Given the description of an element on the screen output the (x, y) to click on. 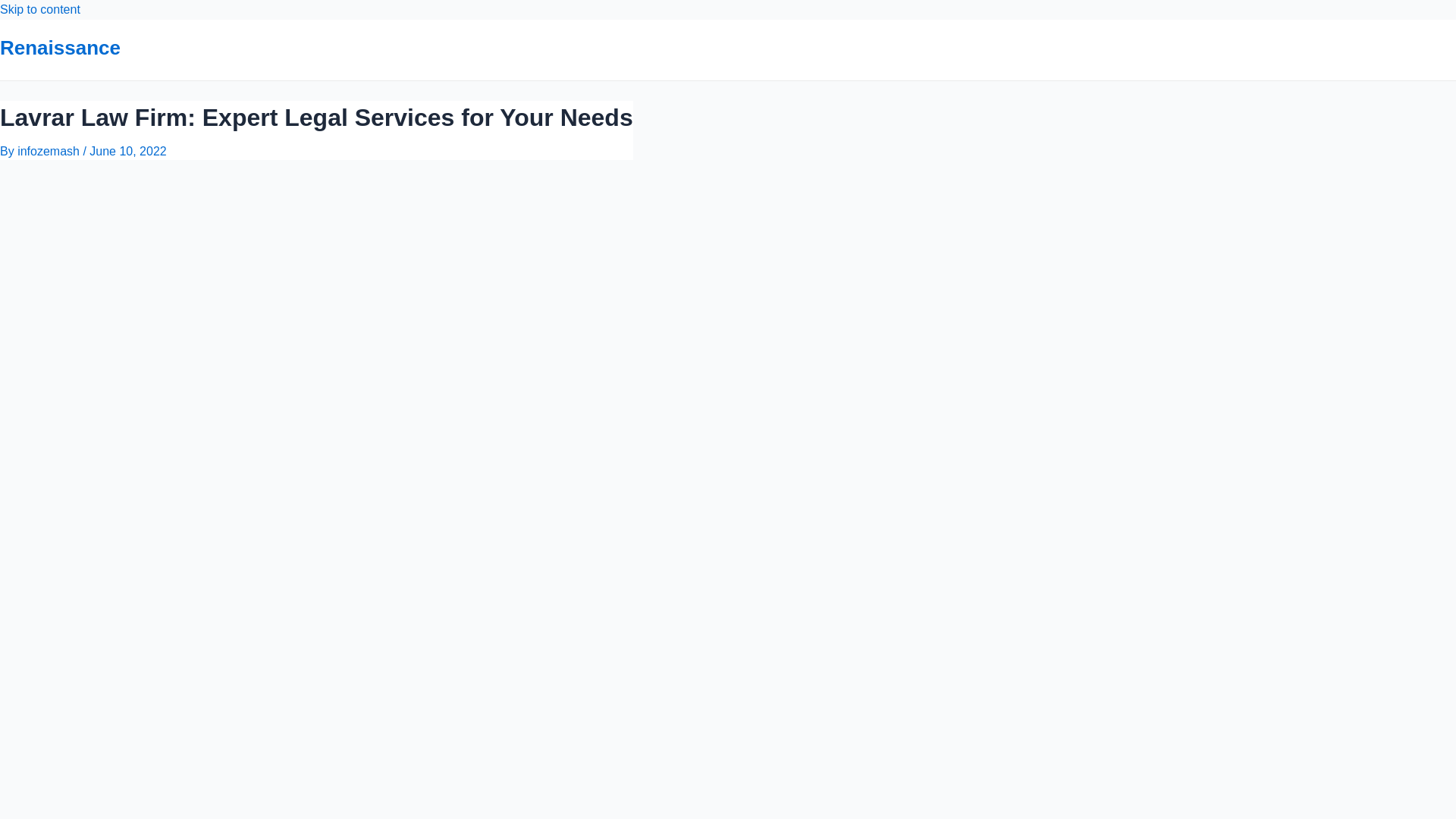
Renaissance (60, 47)
Skip to content (40, 9)
View all posts by infozemash (49, 151)
infozemash (49, 151)
Skip to content (40, 9)
